Given the description of an element on the screen output the (x, y) to click on. 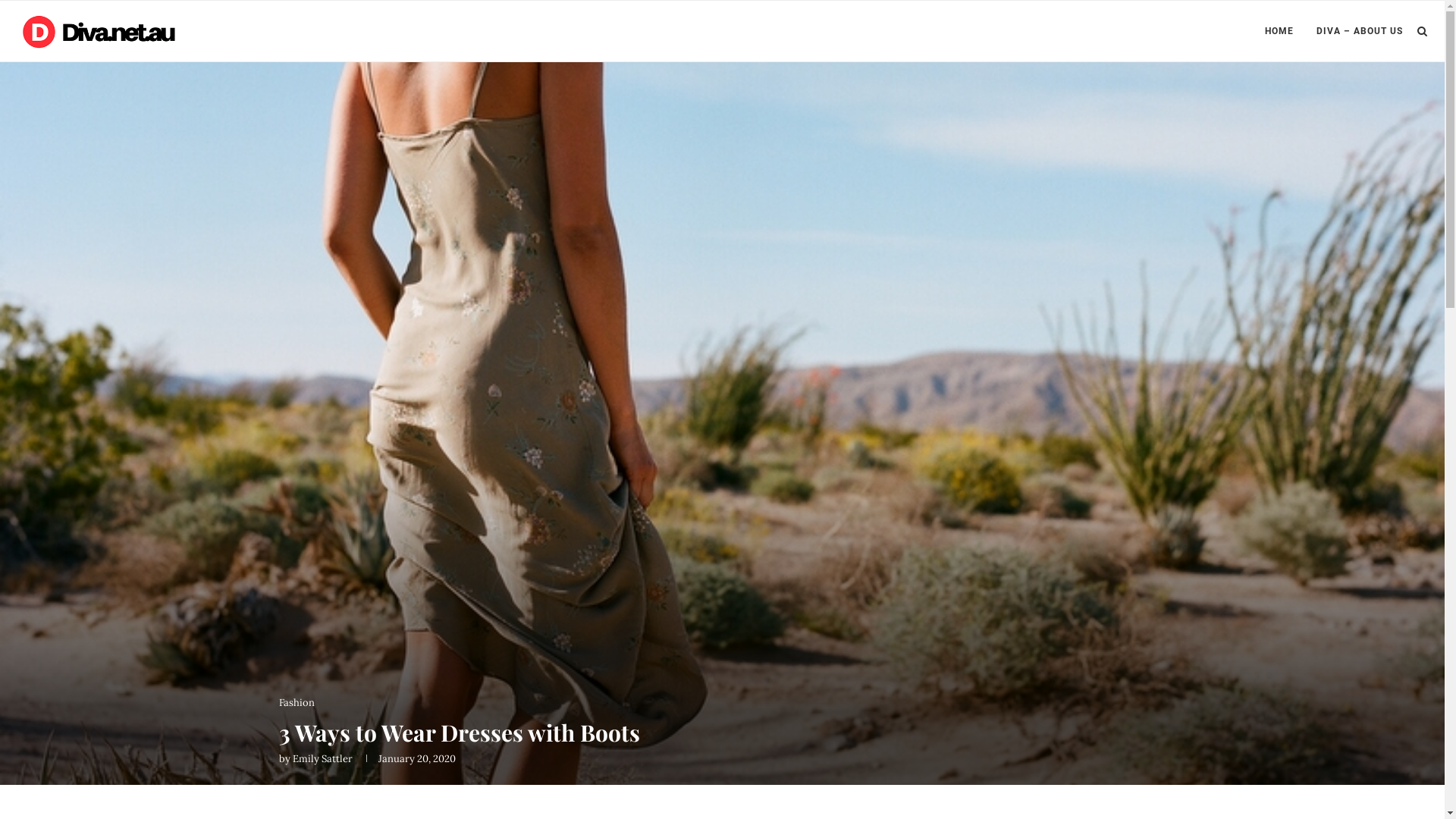
Emily Sattler Element type: text (322, 758)
HOME Element type: text (1278, 30)
Fashion Element type: text (296, 702)
